Given the description of an element on the screen output the (x, y) to click on. 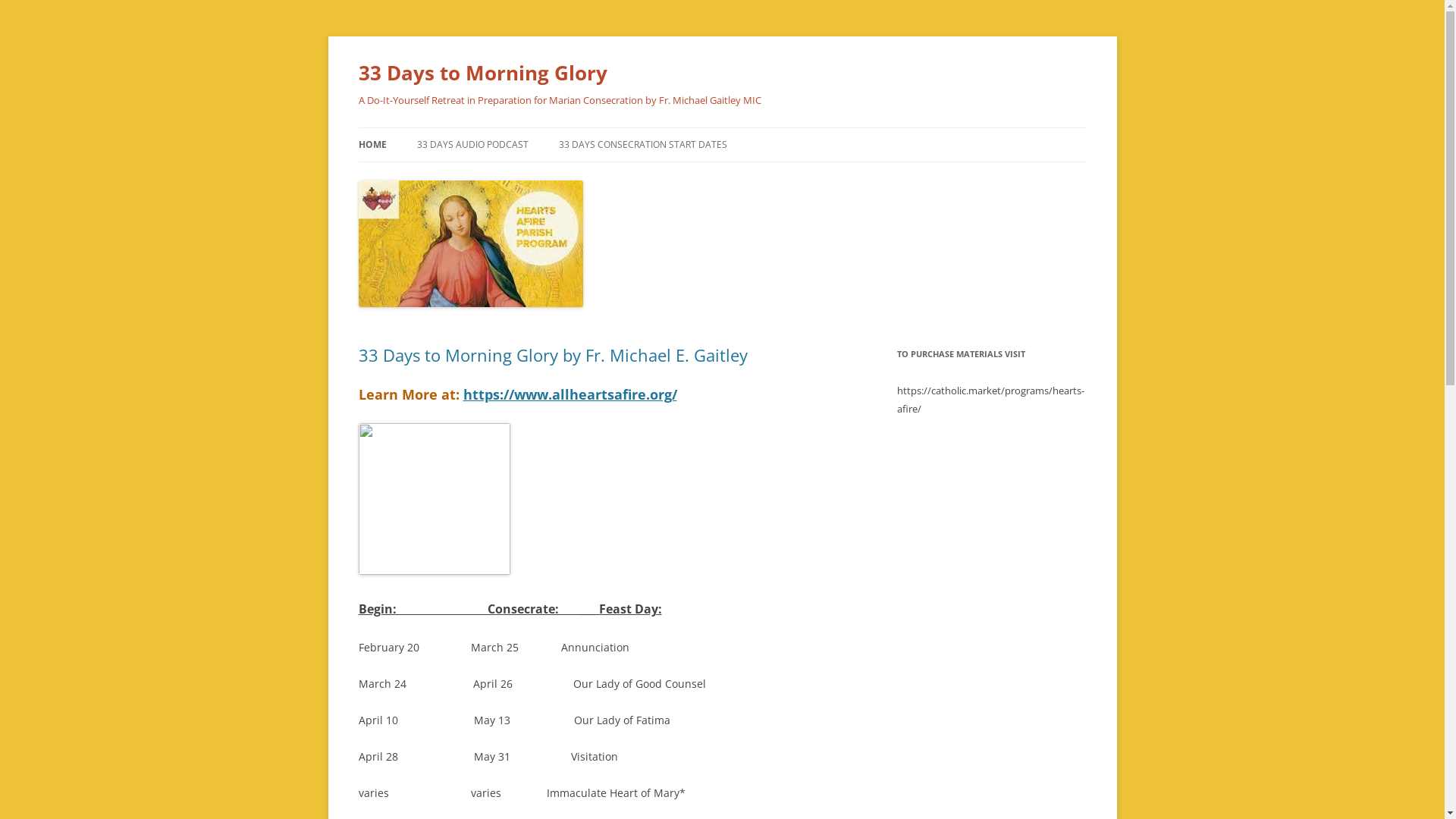
33 DAYS CONSECRATION START DATES Element type: text (642, 144)
33 Days to Morning Glory Element type: text (481, 72)
33 DAYS AUDIO PODCAST Element type: text (472, 144)
Skip to content Element type: text (759, 132)
33 Days to Morning Glory by Fr. Michael E. Gaitley Element type: text (551, 354)
https://www.allheartsafire.org/ Element type: text (569, 394)
HOME Element type: text (371, 144)
